Given the description of an element on the screen output the (x, y) to click on. 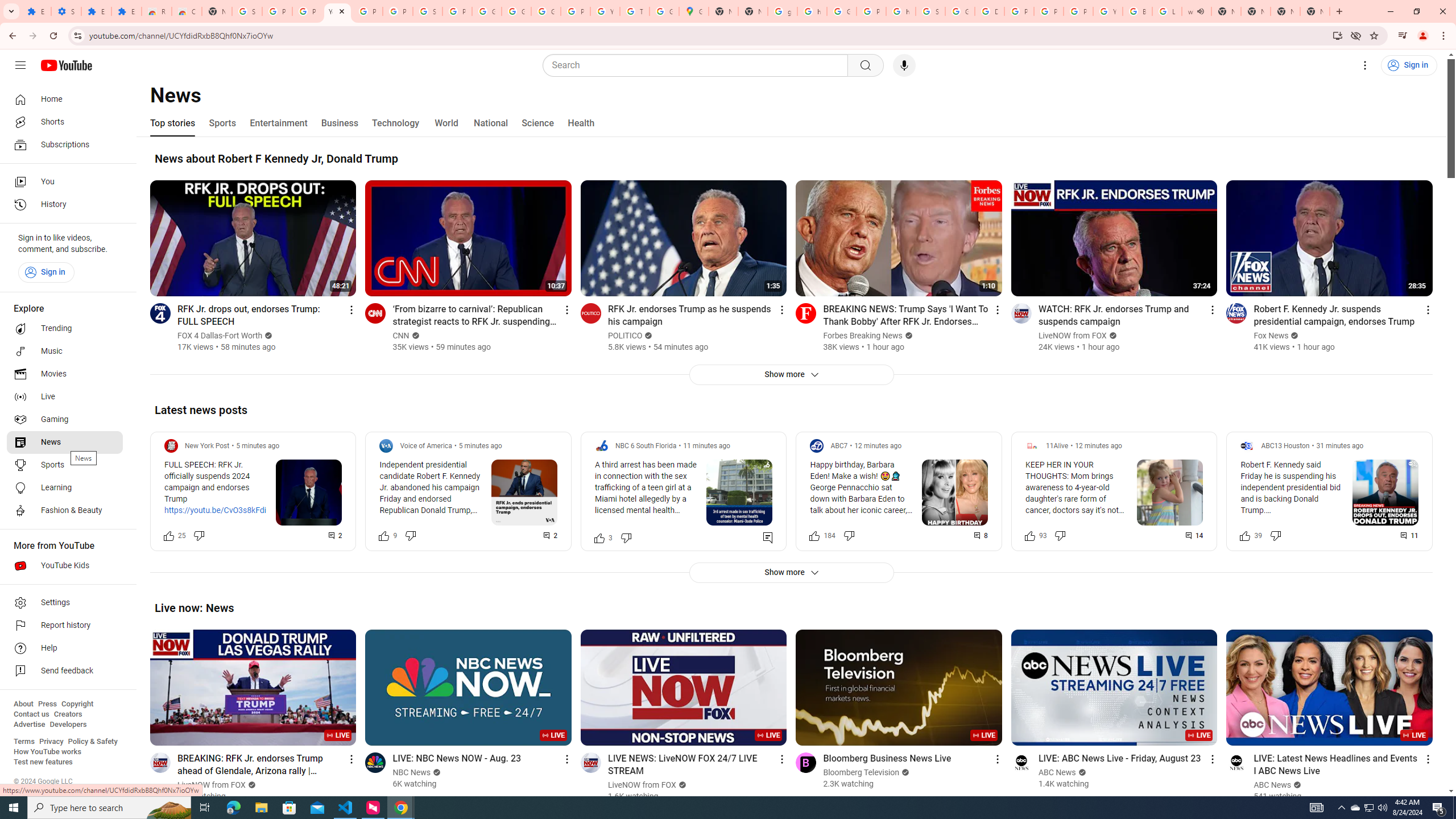
Health (580, 122)
Like this post along with 3 other people (598, 537)
Report history (64, 625)
Extensions (126, 11)
Test new features (42, 761)
31 minutes ago (1340, 445)
LIVE: NBC News NOW - Aug. 23 by NBC News 132,679 views (457, 757)
